Given the description of an element on the screen output the (x, y) to click on. 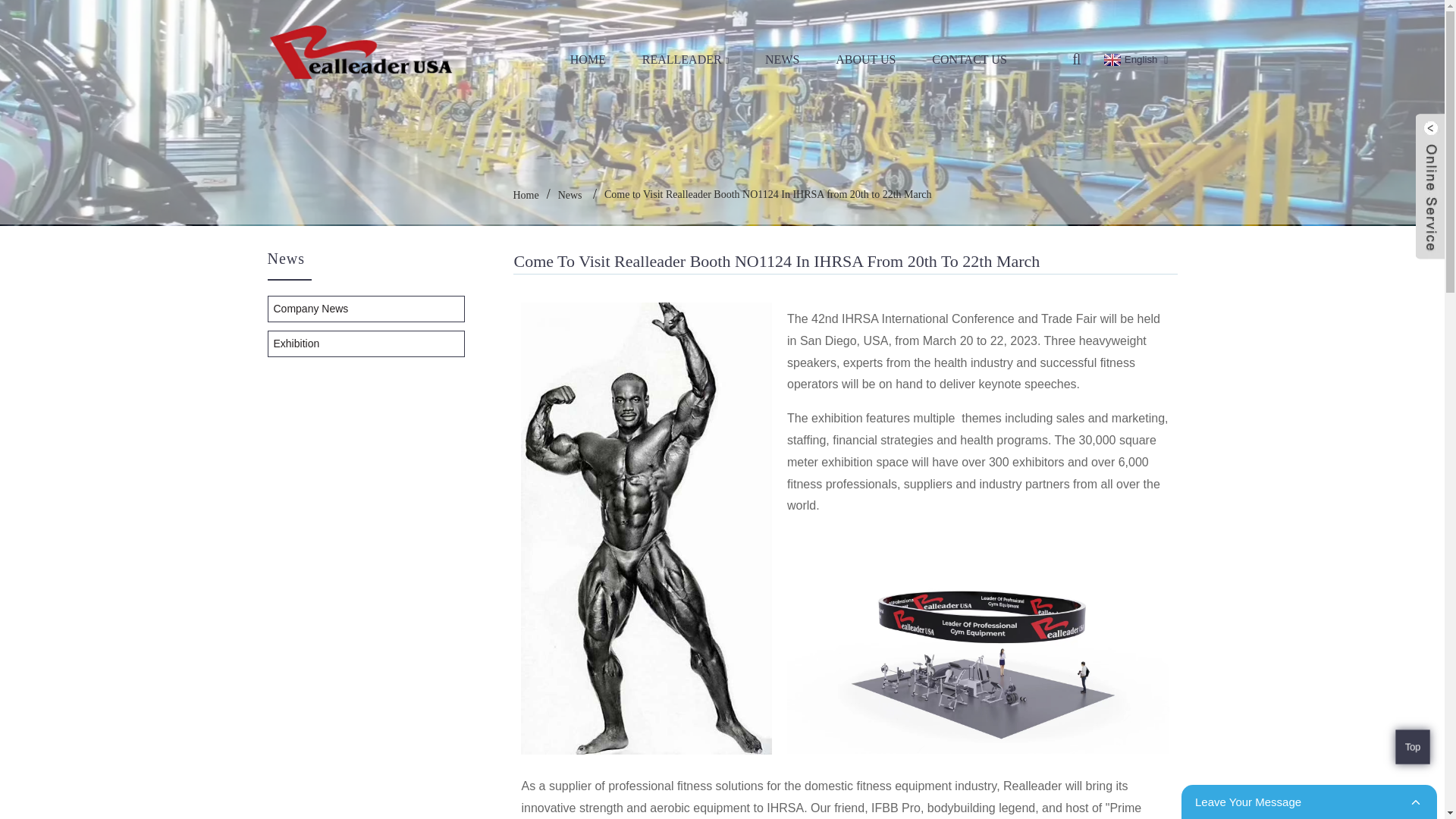
REALLEADER (685, 58)
ABOUT US (865, 58)
NEWS (781, 58)
HOME (588, 58)
English (1128, 59)
CONTACT US (969, 58)
